Given the description of an element on the screen output the (x, y) to click on. 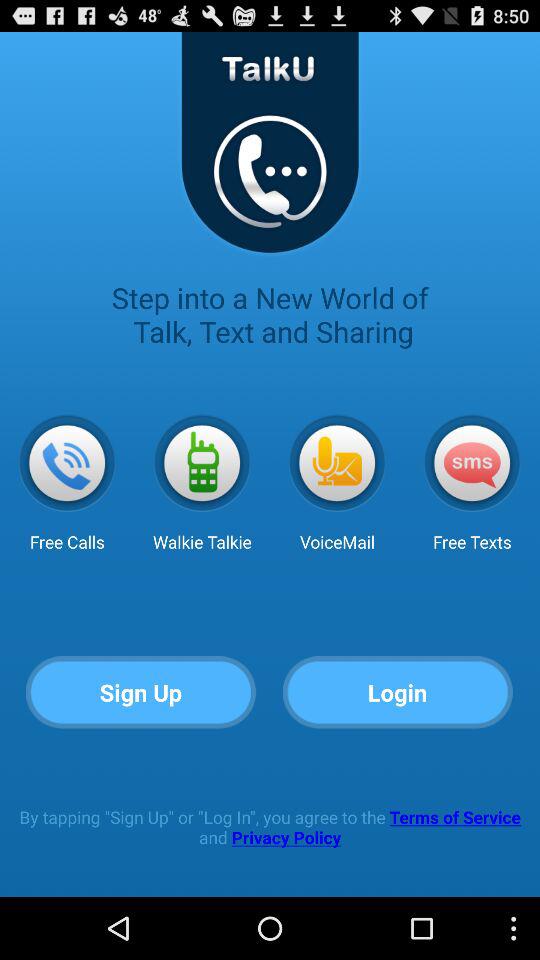
jump until login icon (398, 692)
